Given the description of an element on the screen output the (x, y) to click on. 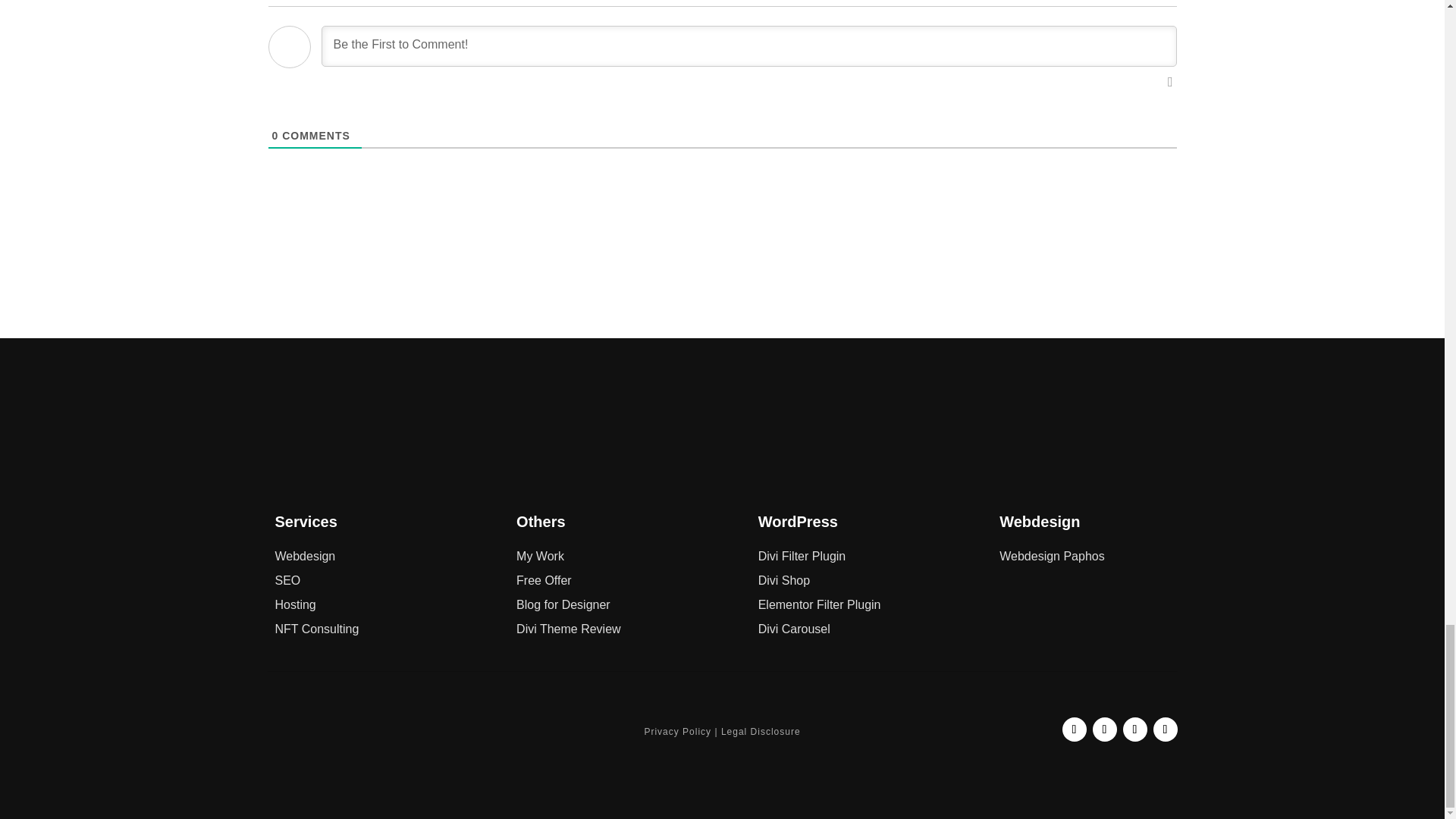
Divi Shop (783, 580)
Hosting (295, 604)
My Work (540, 555)
Blog for Designer (563, 604)
Divi Filter Plugin (801, 555)
Divi Theme Review (568, 628)
Free Offer (544, 580)
NFT Consulting (316, 628)
